Given the description of an element on the screen output the (x, y) to click on. 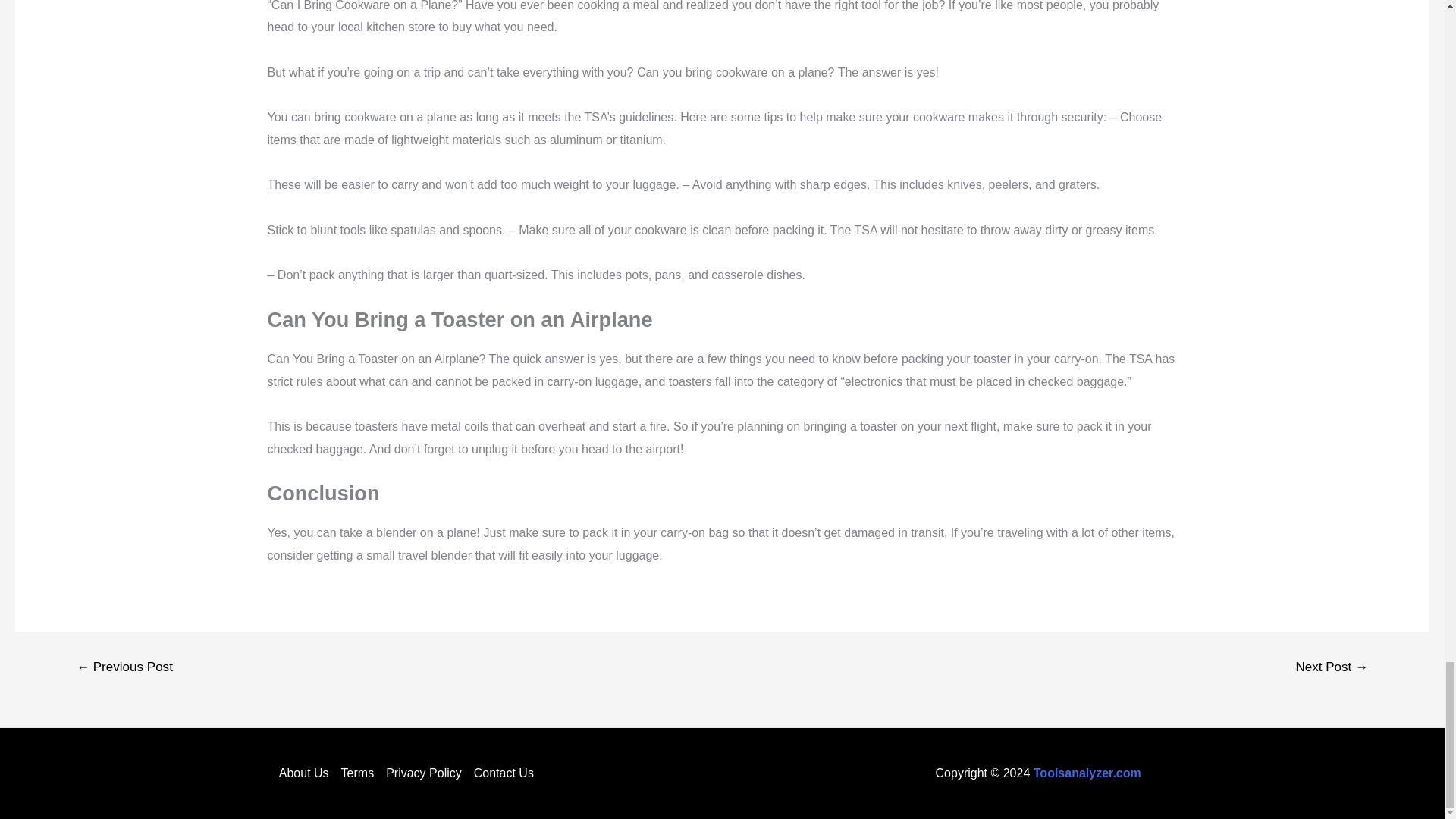
Terms (357, 773)
Privacy Policy (423, 773)
Toolsanalyzer.com (1087, 772)
About Us (306, 773)
Contact Us (500, 773)
